Given the description of an element on the screen output the (x, y) to click on. 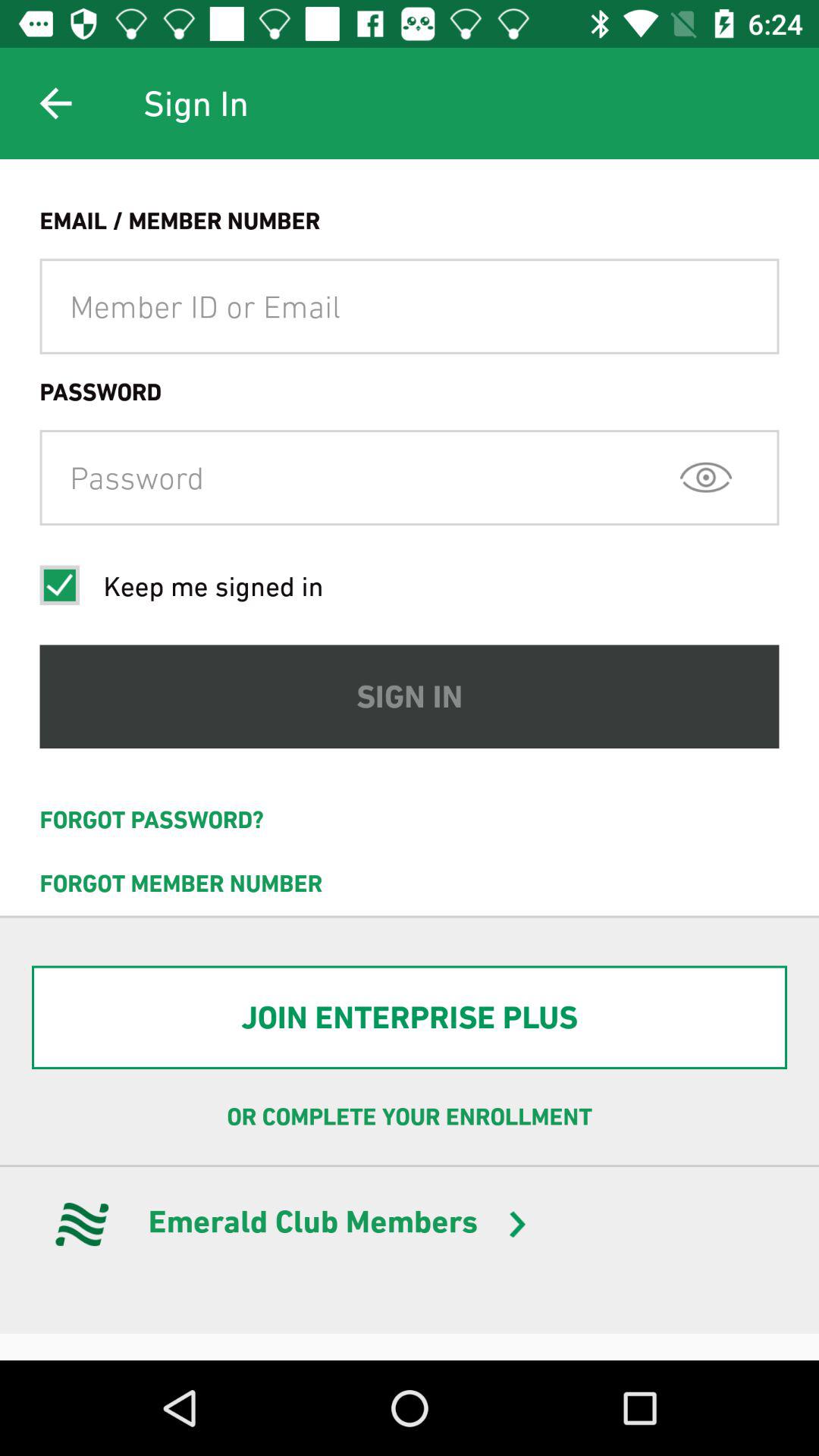
choose icon to the left of the sign in (55, 103)
